Given the description of an element on the screen output the (x, y) to click on. 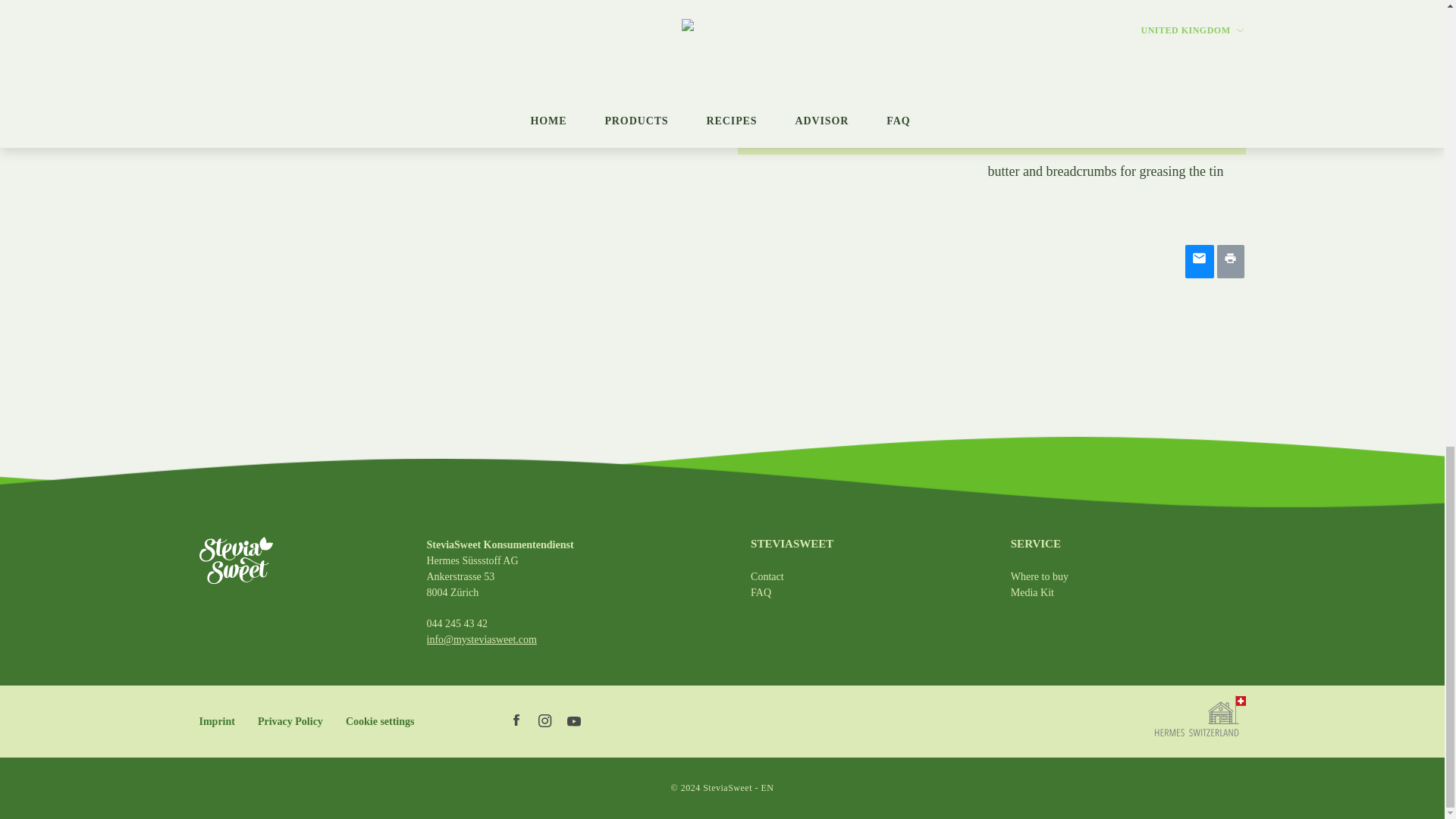
Contact (767, 576)
Privacy Policy (290, 721)
Cookie settings (380, 721)
FAQ (761, 592)
Imprint (216, 721)
Media Kit (1032, 592)
Where to buy (1039, 576)
